Given the description of an element on the screen output the (x, y) to click on. 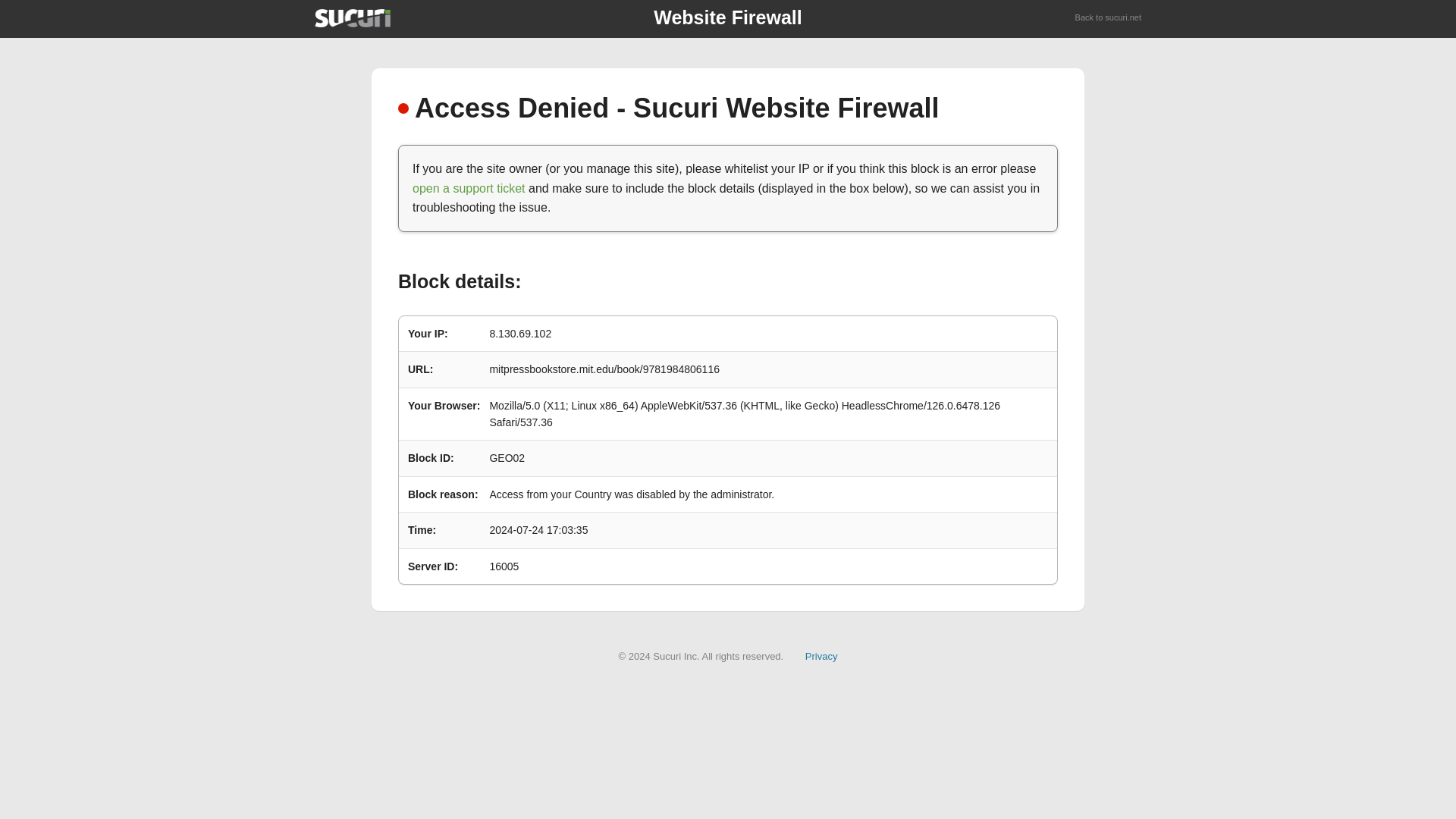
Back to sucuri.net (1108, 18)
open a support ticket (468, 187)
Privacy (821, 655)
